Given the description of an element on the screen output the (x, y) to click on. 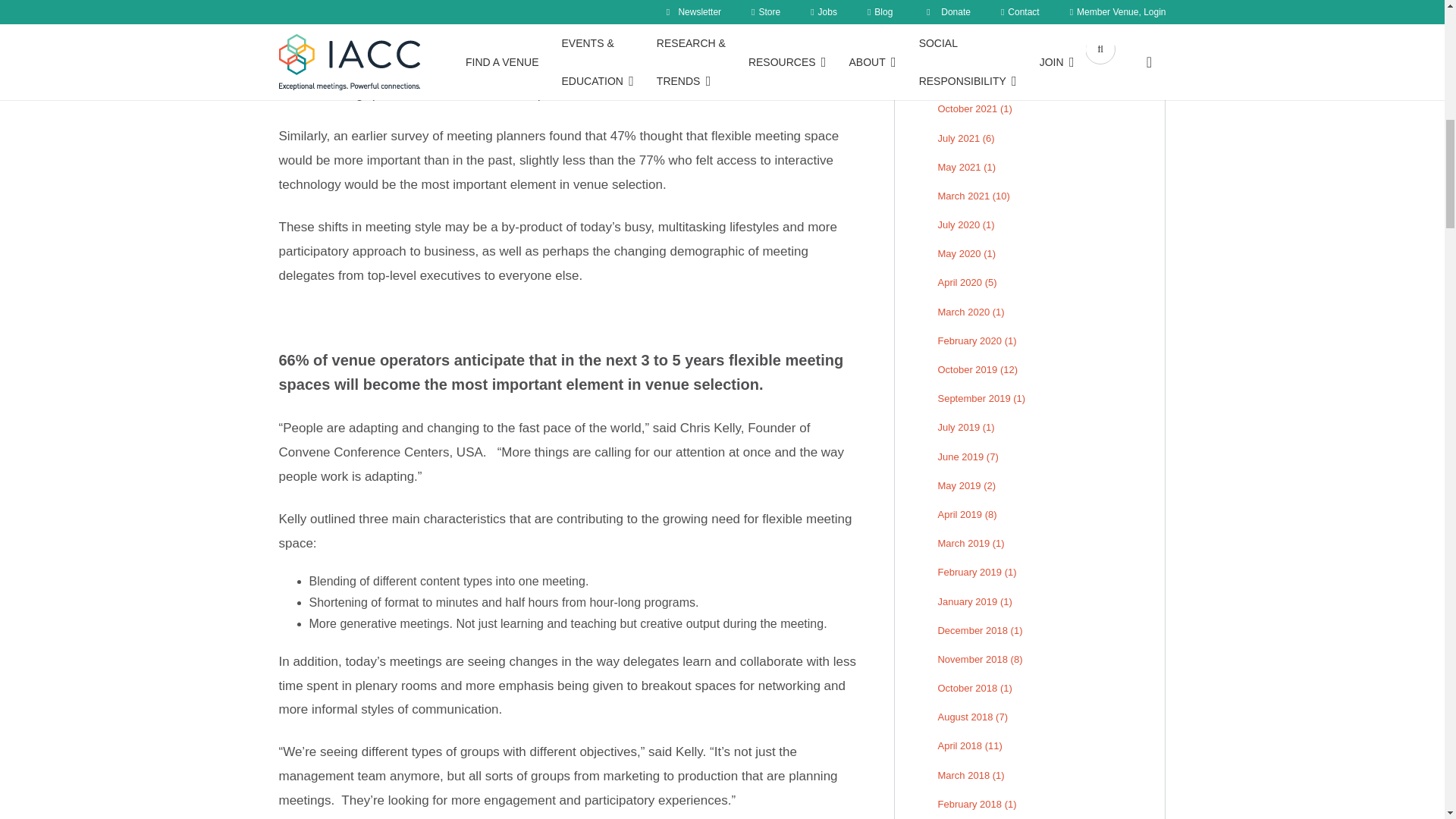
Back to top (1413, 30)
Meeting Room of the Future Report (563, 45)
